Given the description of an element on the screen output the (x, y) to click on. 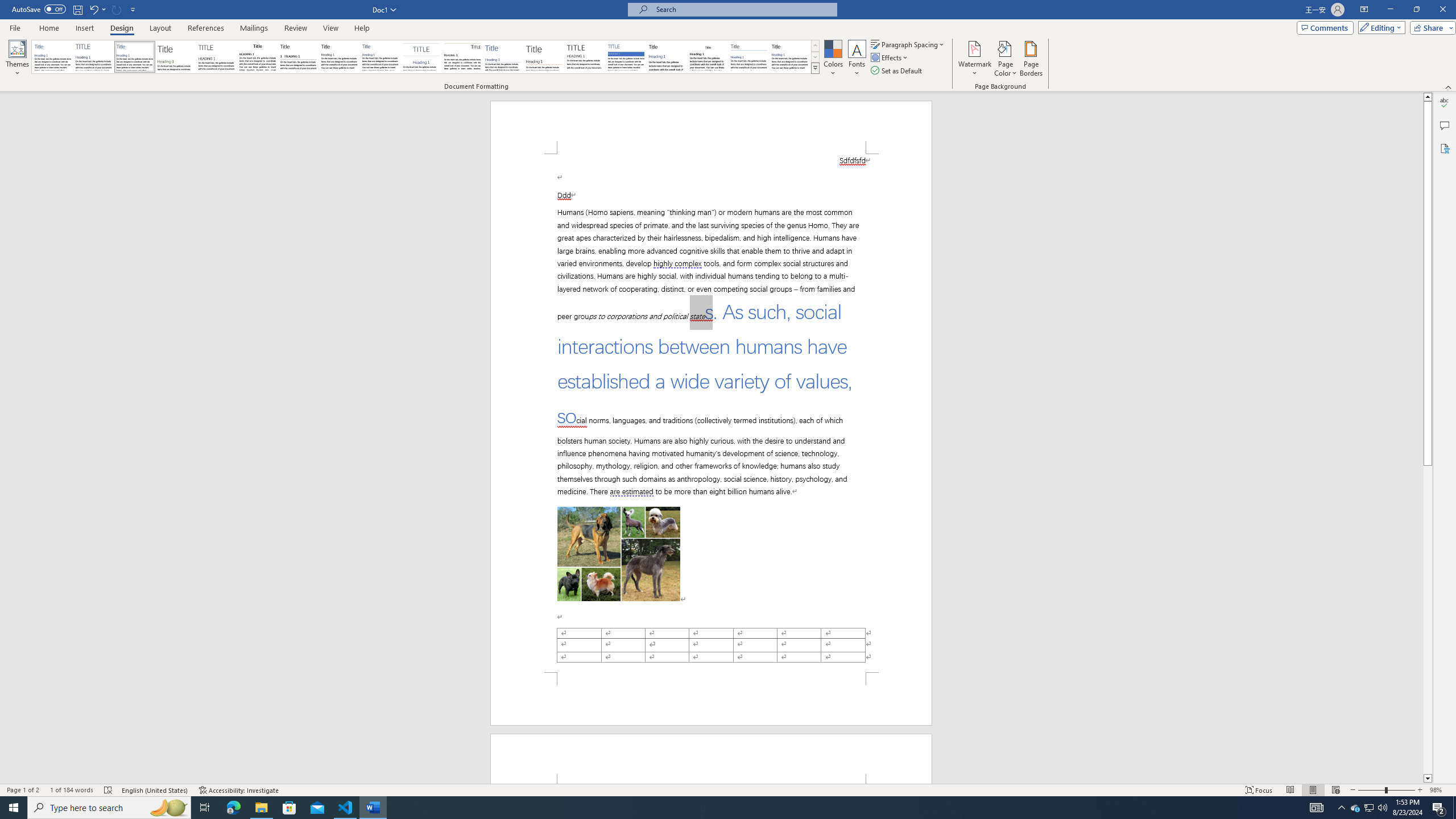
Centered (421, 56)
Themes (17, 58)
Black & White (Word 2013) (338, 56)
Shaded (625, 56)
Page Number Page 1 of 2 (22, 790)
